Given the description of an element on the screen output the (x, y) to click on. 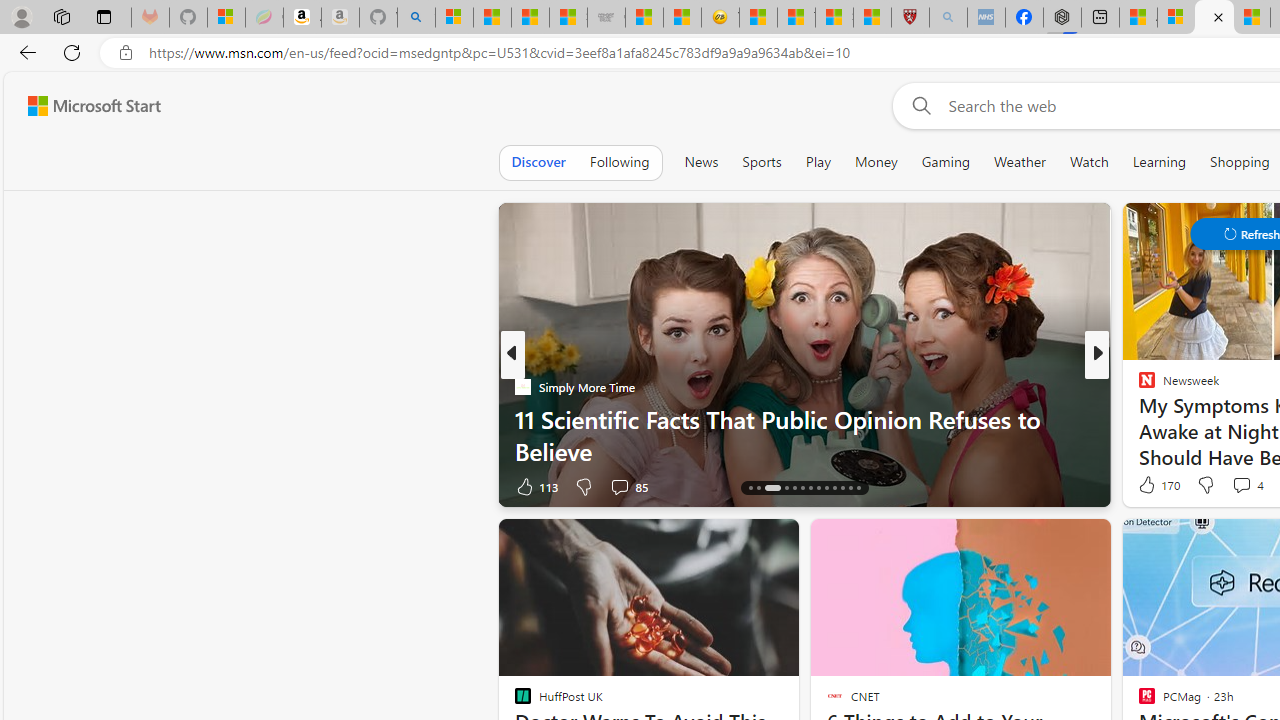
View comments 5 Comment (1229, 485)
View comments 73 Comment (1244, 486)
4 Like (1145, 486)
FOX News (1138, 386)
View comments 11 Comment (1234, 485)
AutomationID: tab-18 (793, 487)
